Given the description of an element on the screen output the (x, y) to click on. 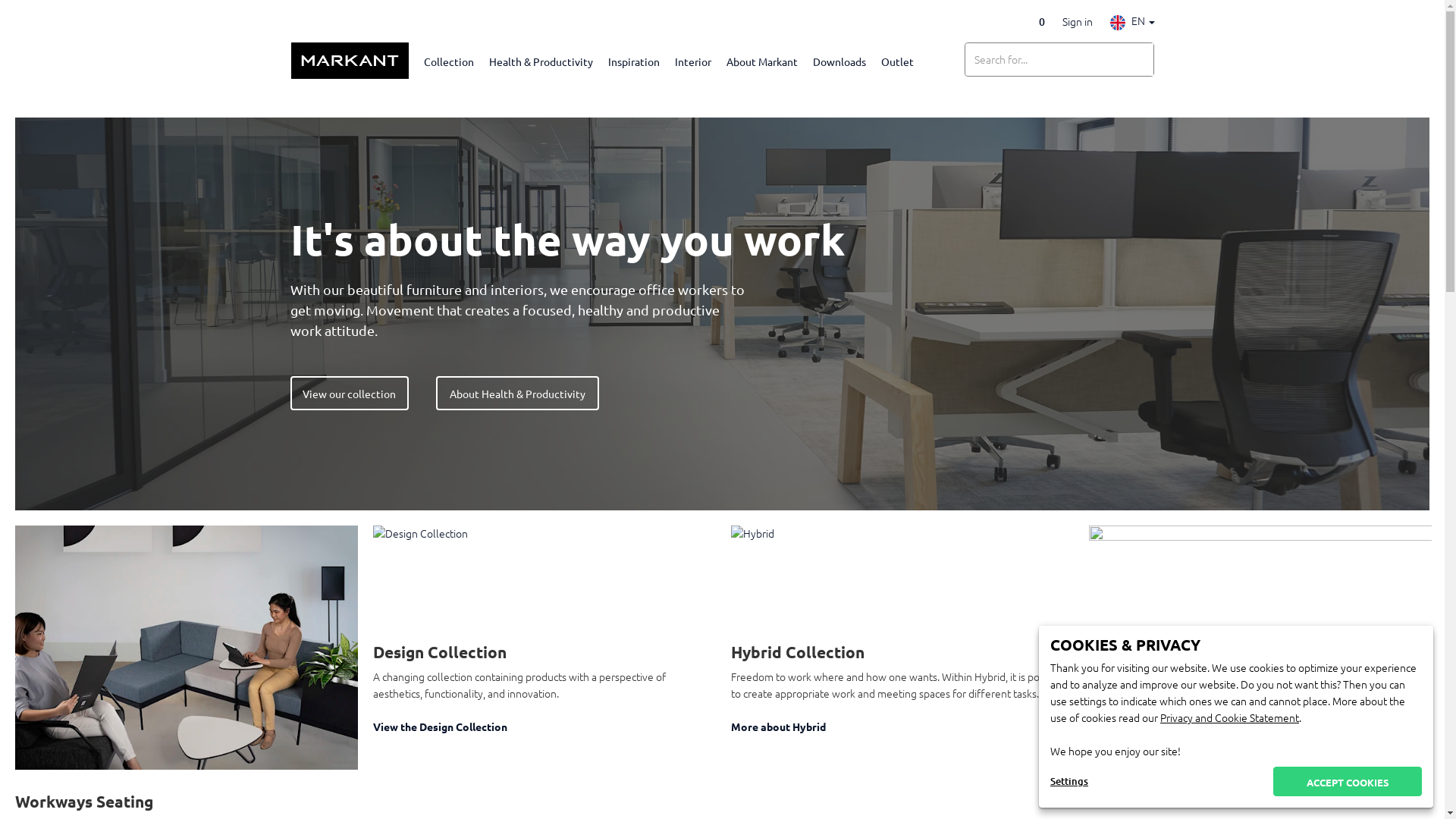
Privacy and Cookie Statement Element type: text (1229, 716)
Downloads Element type: text (839, 61)
Collection Element type: text (447, 61)
View the Design Collection Element type: text (544, 726)
About Markant Element type: text (761, 61)
See our approach at VINCI Element type: text (1259, 726)
View our collection Element type: text (348, 393)
Health & Productivity Element type: text (539, 61)
Outlet Element type: text (897, 61)
More about Hybrid Element type: text (902, 726)
ACCEPT COOKIES Element type: text (1347, 781)
Interior Element type: text (692, 61)
0 Element type: text (1039, 20)
Inspiration Element type: text (633, 61)
Settings Element type: text (1069, 781)
Sign in Element type: text (1076, 20)
EN Element type: text (1132, 20)
About Health & Productivity Element type: text (516, 393)
